Given the description of an element on the screen output the (x, y) to click on. 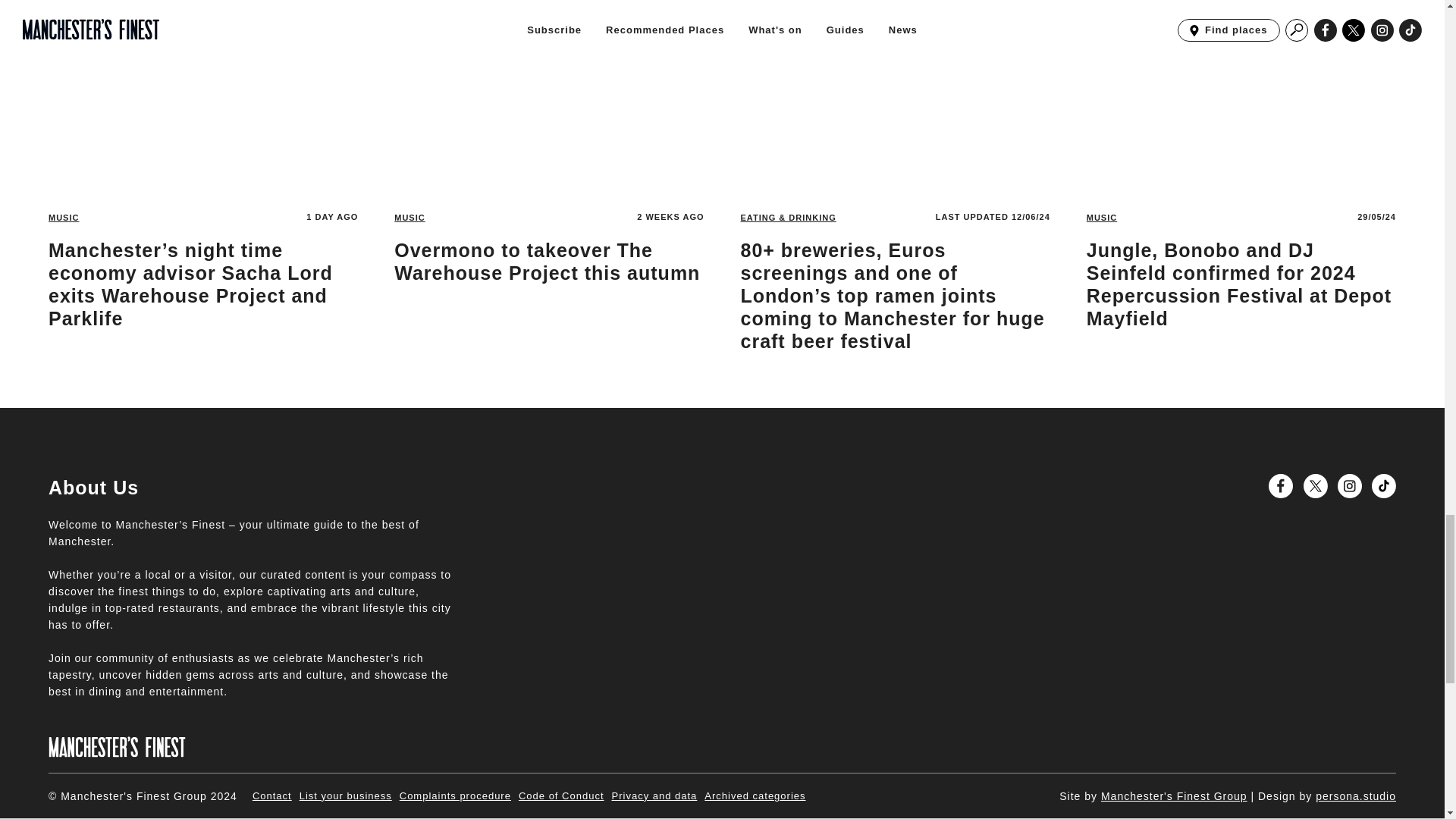
Go to Manchester's Finest TikTok profile (1383, 485)
Go to Manchester's Finest X profile (1315, 485)
Go to Manchester's Finest Facebook page (1280, 485)
Go to Manchester's Finest Instagram profile (1349, 485)
